Given the description of an element on the screen output the (x, y) to click on. 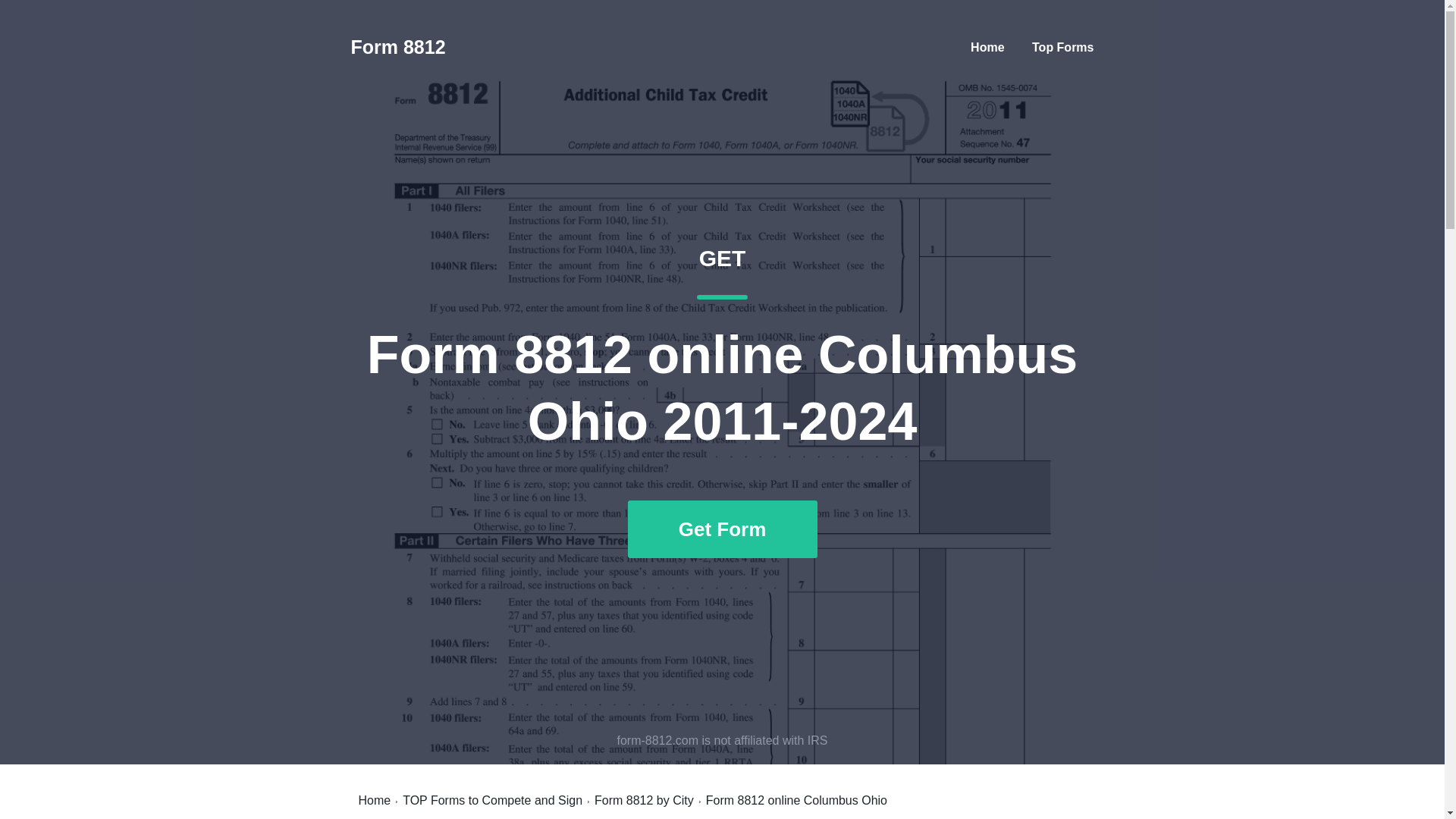
Form 8812 (397, 46)
Top Forms (1062, 47)
Home (987, 47)
Form 8812 by City (644, 800)
TOP Forms to Compete and Sign (492, 800)
